Given the description of an element on the screen output the (x, y) to click on. 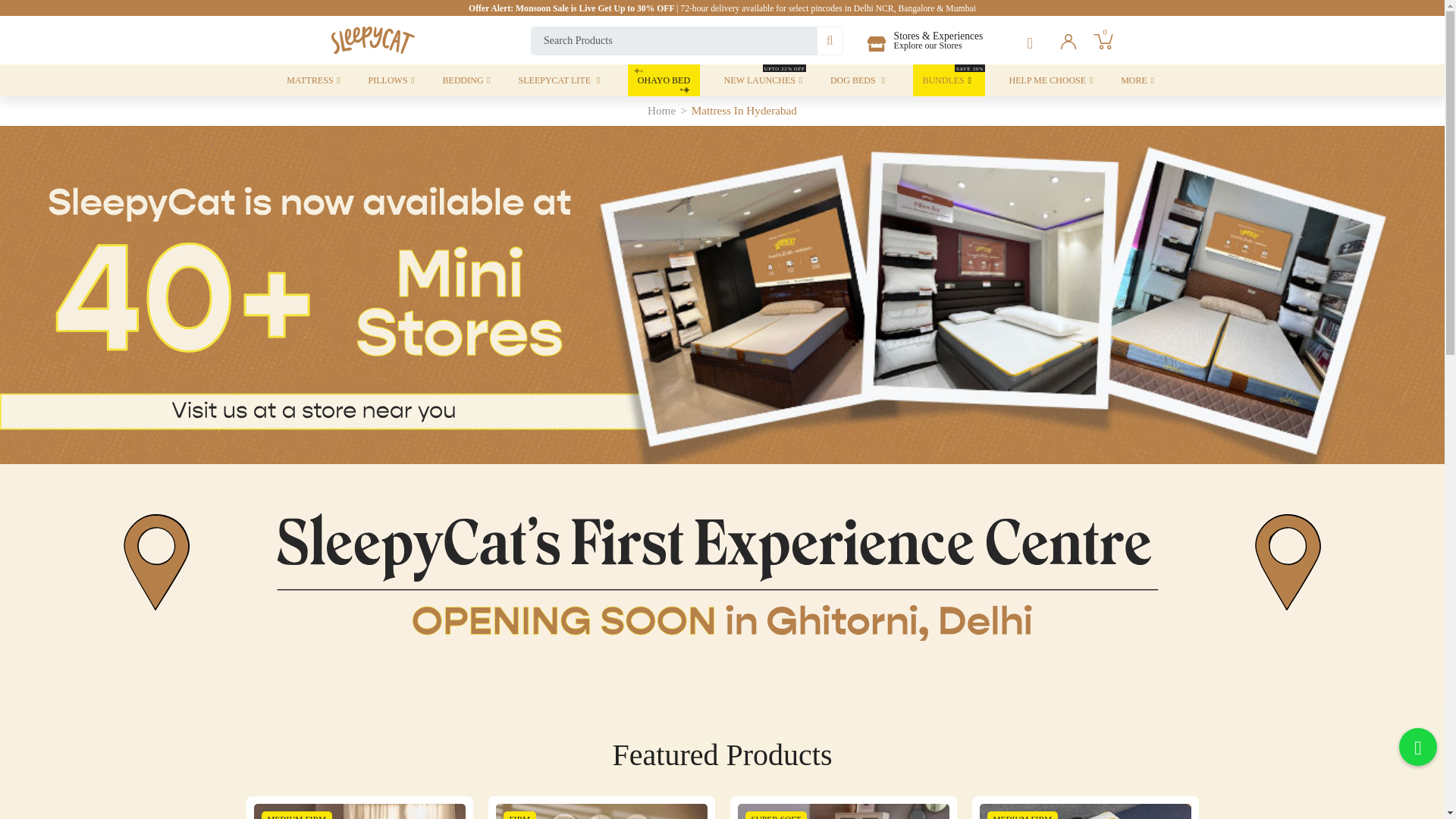
0 (1103, 37)
OHAYO BED (663, 80)
